Given the description of an element on the screen output the (x, y) to click on. 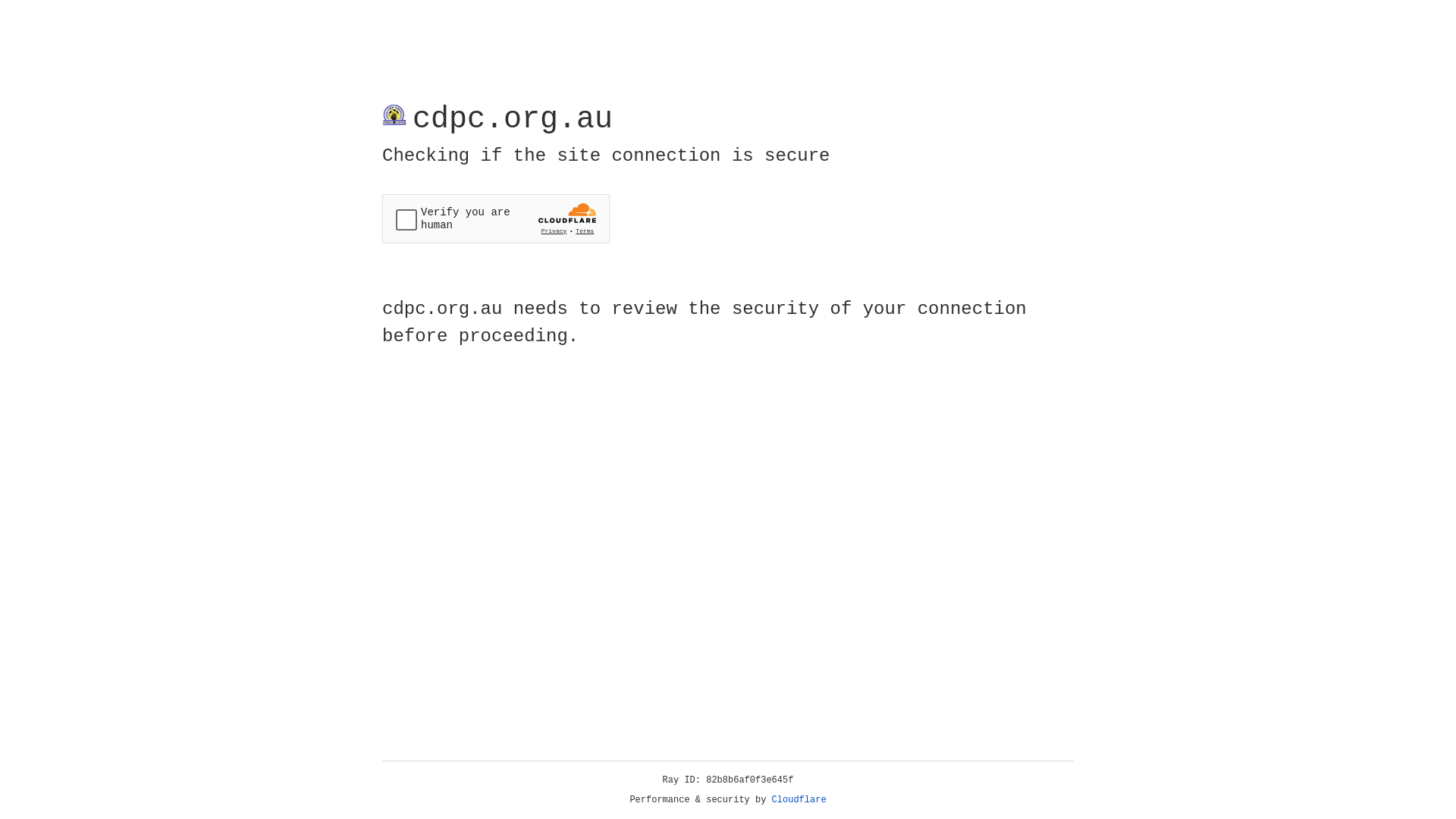
Widget containing a Cloudflare security challenge Element type: hover (495, 218)
Cloudflare Element type: text (798, 799)
